Given the description of an element on the screen output the (x, y) to click on. 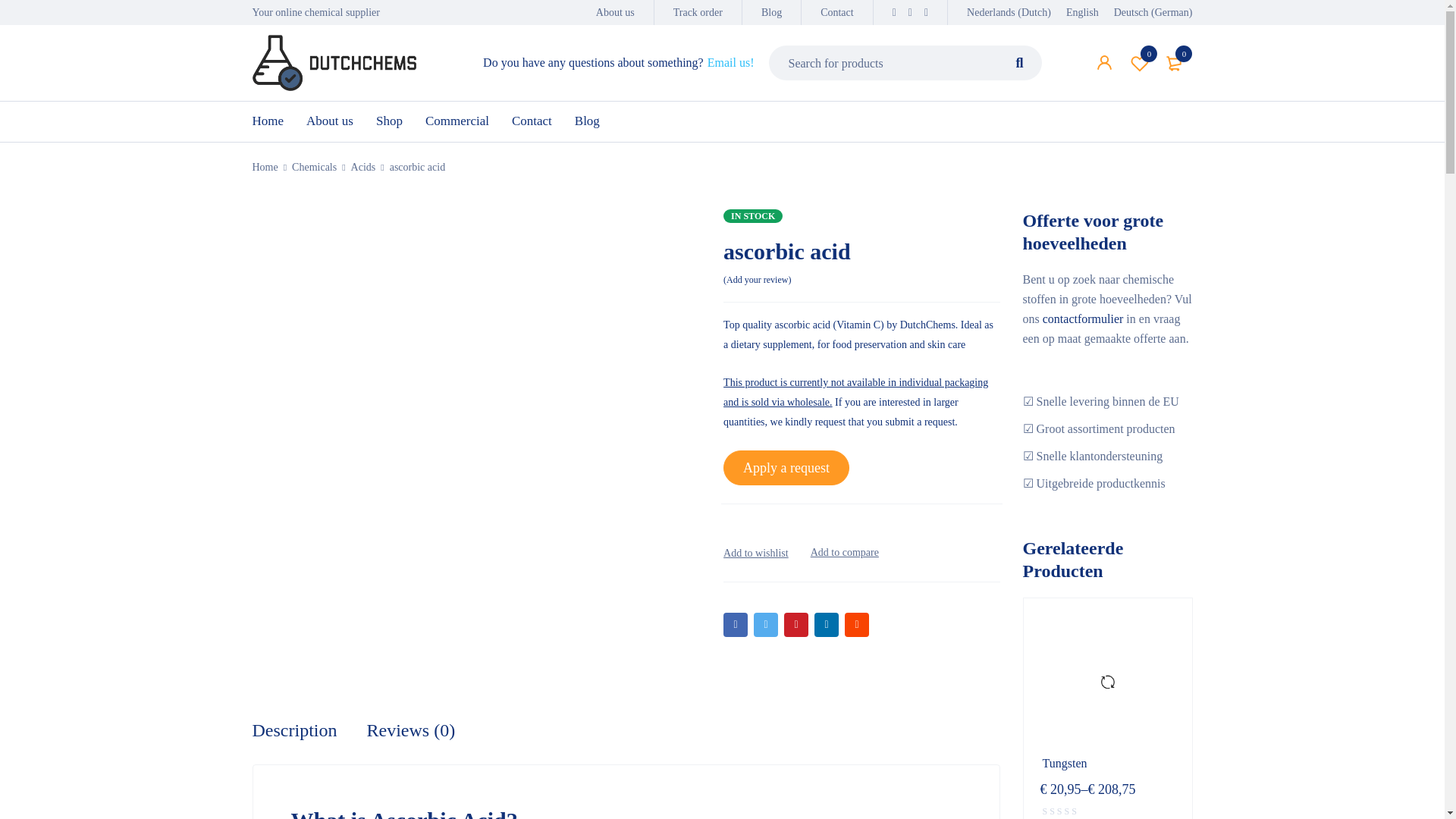
Tungsten (1107, 763)
Tungsten (1107, 682)
Wishlist (1139, 62)
DutchChems (332, 62)
About us (614, 12)
English (1089, 12)
Search (1018, 62)
View your shopping cart (1174, 62)
